Given the description of an element on the screen output the (x, y) to click on. 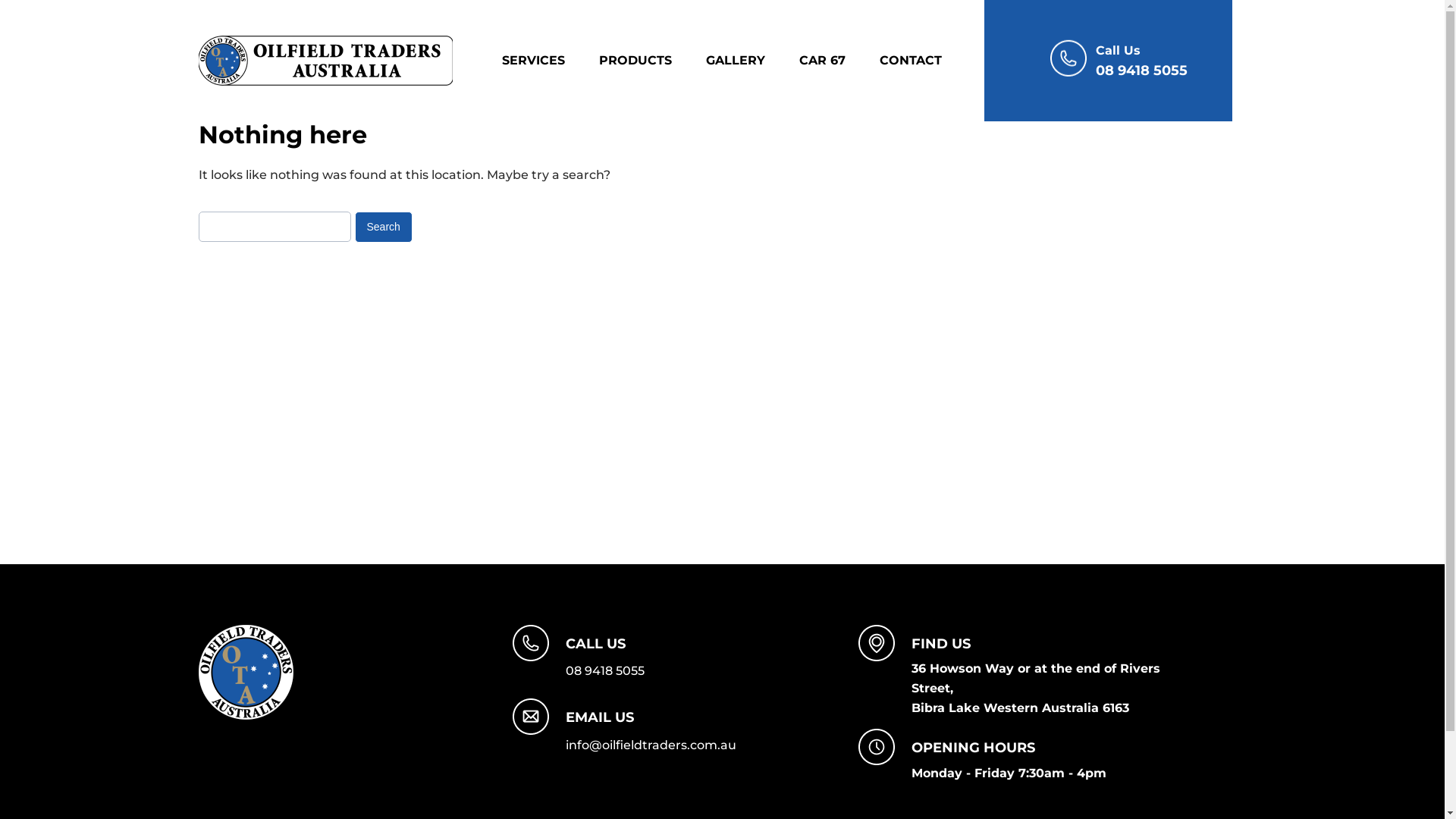
info@oilfieldtraders.com.au Element type: text (650, 744)
Search Element type: text (383, 226)
CAR 67 Element type: text (837, 60)
PRODUCTS Element type: text (650, 60)
GALLERY Element type: text (750, 60)
CONTACT Element type: text (925, 60)
SERVICES Element type: text (548, 60)
08 9418 5055 Element type: text (604, 670)
08 9418 5055 Element type: text (1141, 70)
